Given the description of an element on the screen output the (x, y) to click on. 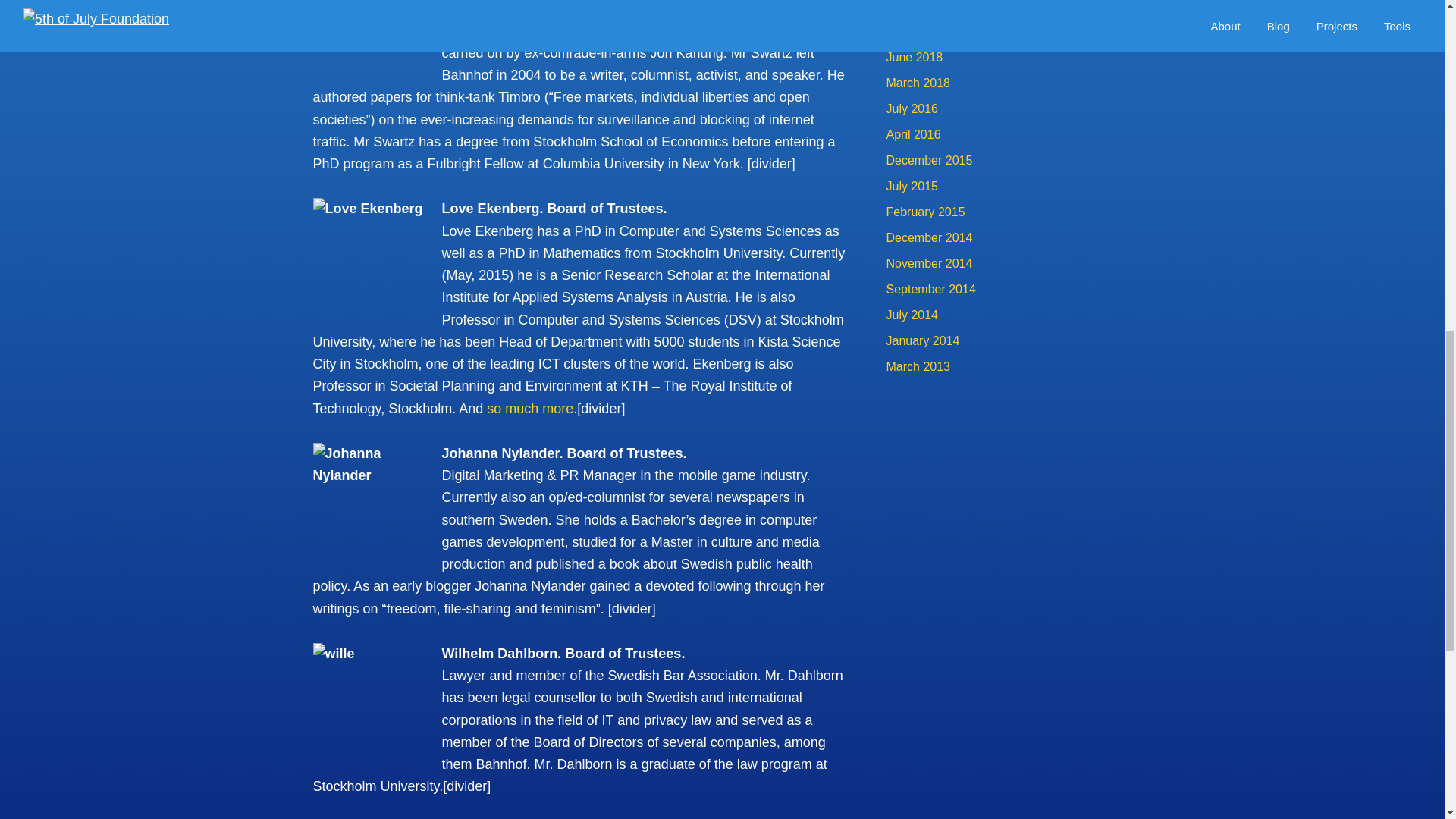
January 2014 (922, 340)
June 2018 (913, 56)
March 2013 (917, 366)
July 2014 (911, 314)
so much more (529, 407)
February 2015 (924, 211)
September 2014 (930, 288)
November 2019 (928, 31)
April 2016 (912, 133)
December 2015 (928, 160)
